Given the description of an element on the screen output the (x, y) to click on. 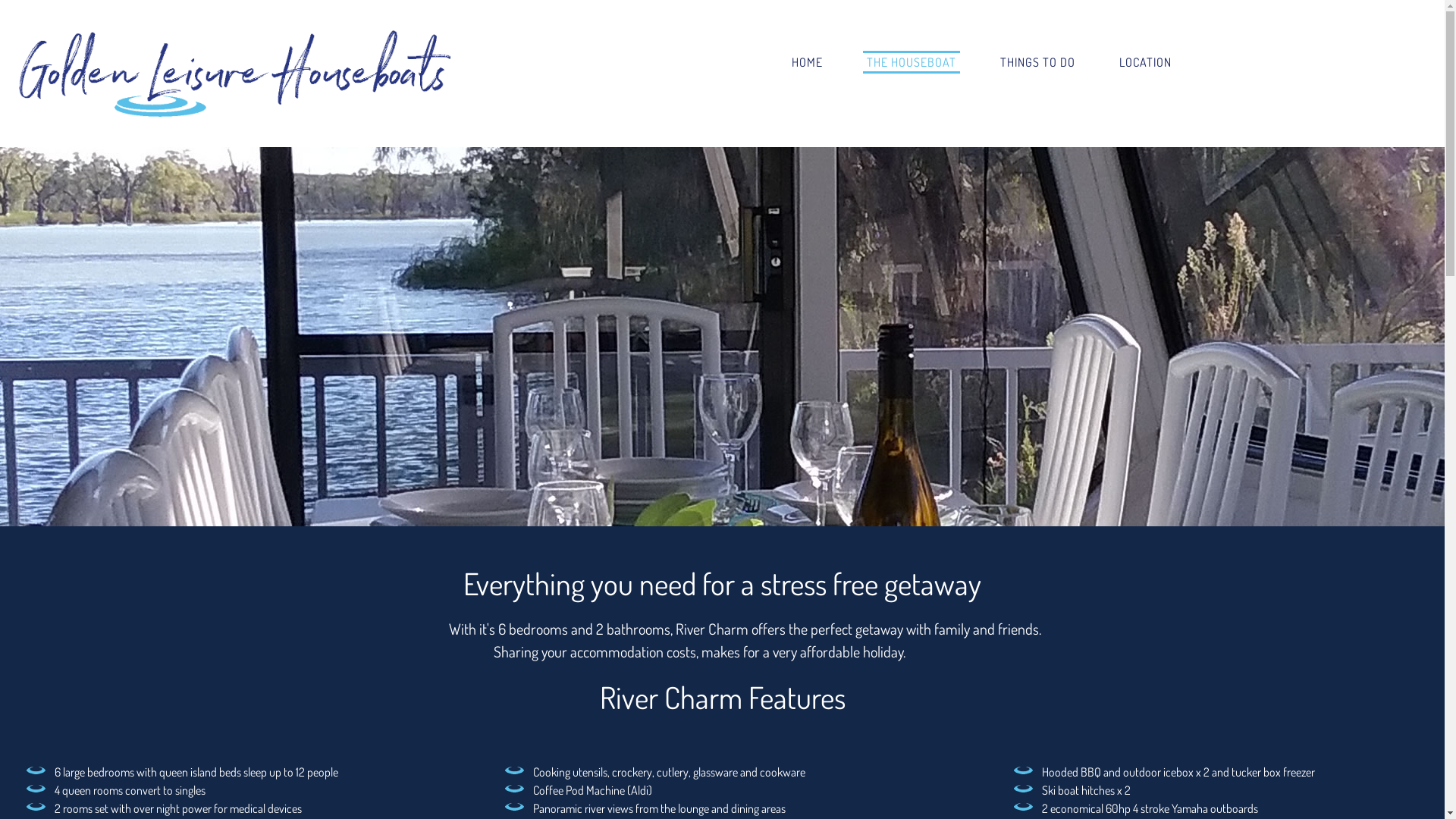
HOME Element type: text (806, 61)
THE HOUSEBOAT Element type: text (911, 61)
THINGS TO DO Element type: text (1037, 61)
LOCATION Element type: text (1144, 61)
